Given the description of an element on the screen output the (x, y) to click on. 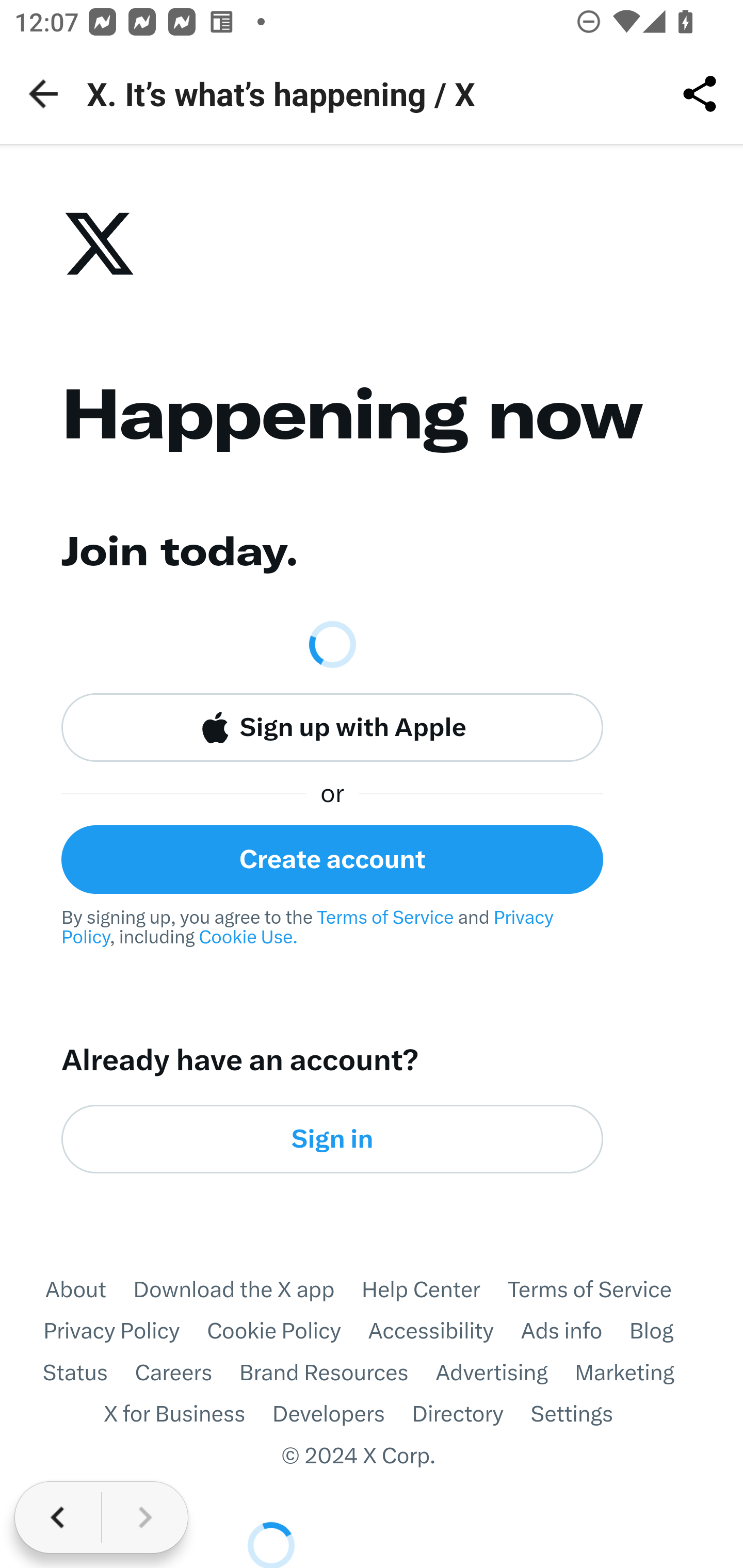
Sign up with Apple (332, 728)
Create account (332, 859)
Privacy Policy (309, 928)
Terms of Service (384, 917)
Cookie Use. (247, 937)
Sign in (332, 1138)
About (88, 1288)
Download the X app (246, 1288)
Help Center (434, 1288)
Terms of Service (602, 1288)
Privacy Policy (125, 1331)
Cookie Policy (287, 1331)
Accessibility (443, 1331)
Ads info (575, 1331)
Blog (665, 1331)
Status (88, 1372)
Careers (186, 1372)
Brand Resources (337, 1372)
Advertising (504, 1372)
Marketing (638, 1372)
X for Business (188, 1415)
Developers (342, 1415)
Directory (471, 1415)
Settings (584, 1415)
